Given the description of an element on the screen output the (x, y) to click on. 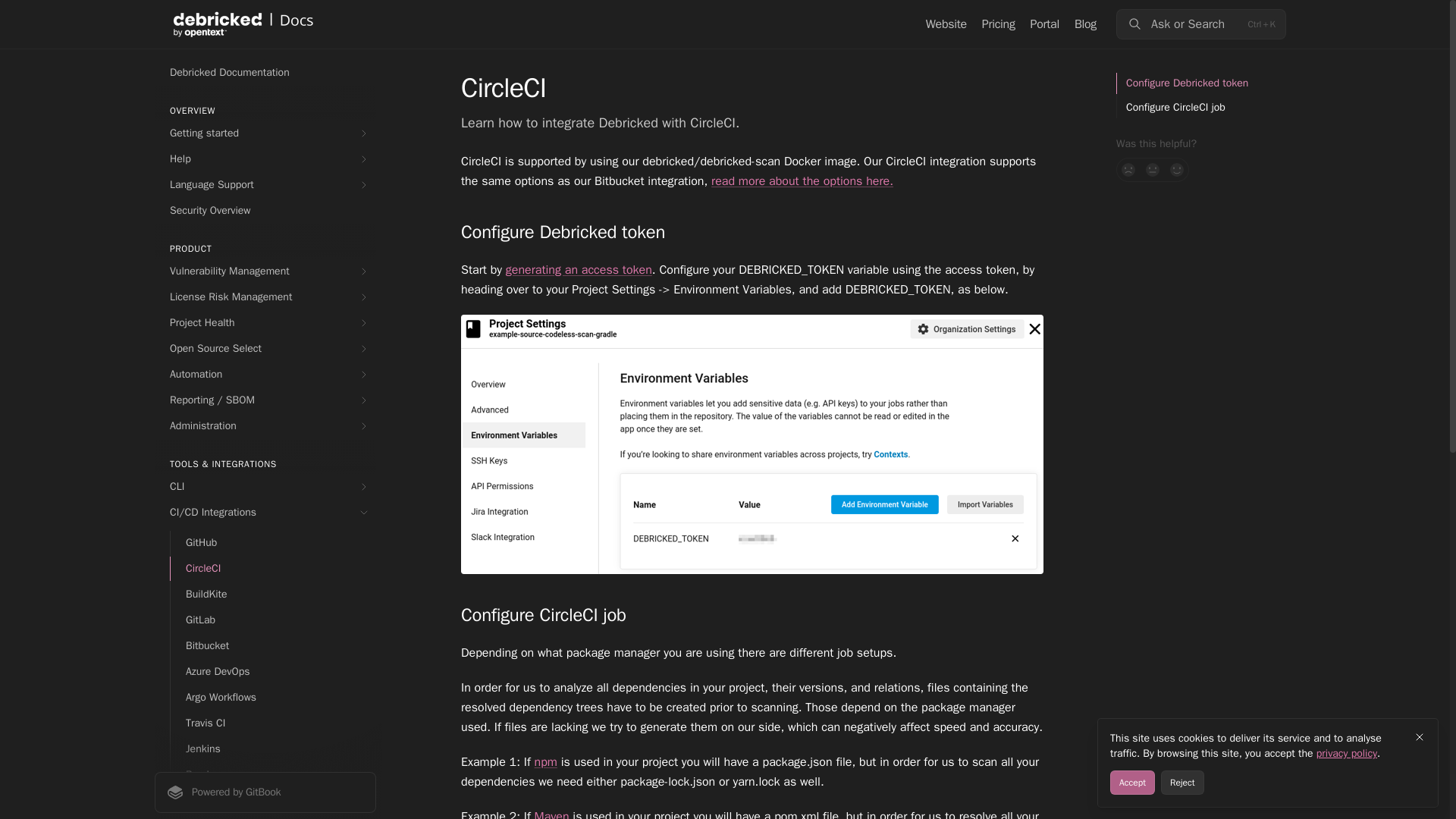
Debricked Documentation (264, 72)
Close (1419, 737)
Not sure (1152, 169)
No (1128, 169)
Language Support (264, 184)
Help (264, 159)
Security Overview (264, 210)
Yes, it was! (1176, 169)
Getting started (264, 133)
Vulnerability Management (264, 271)
